Given the description of an element on the screen output the (x, y) to click on. 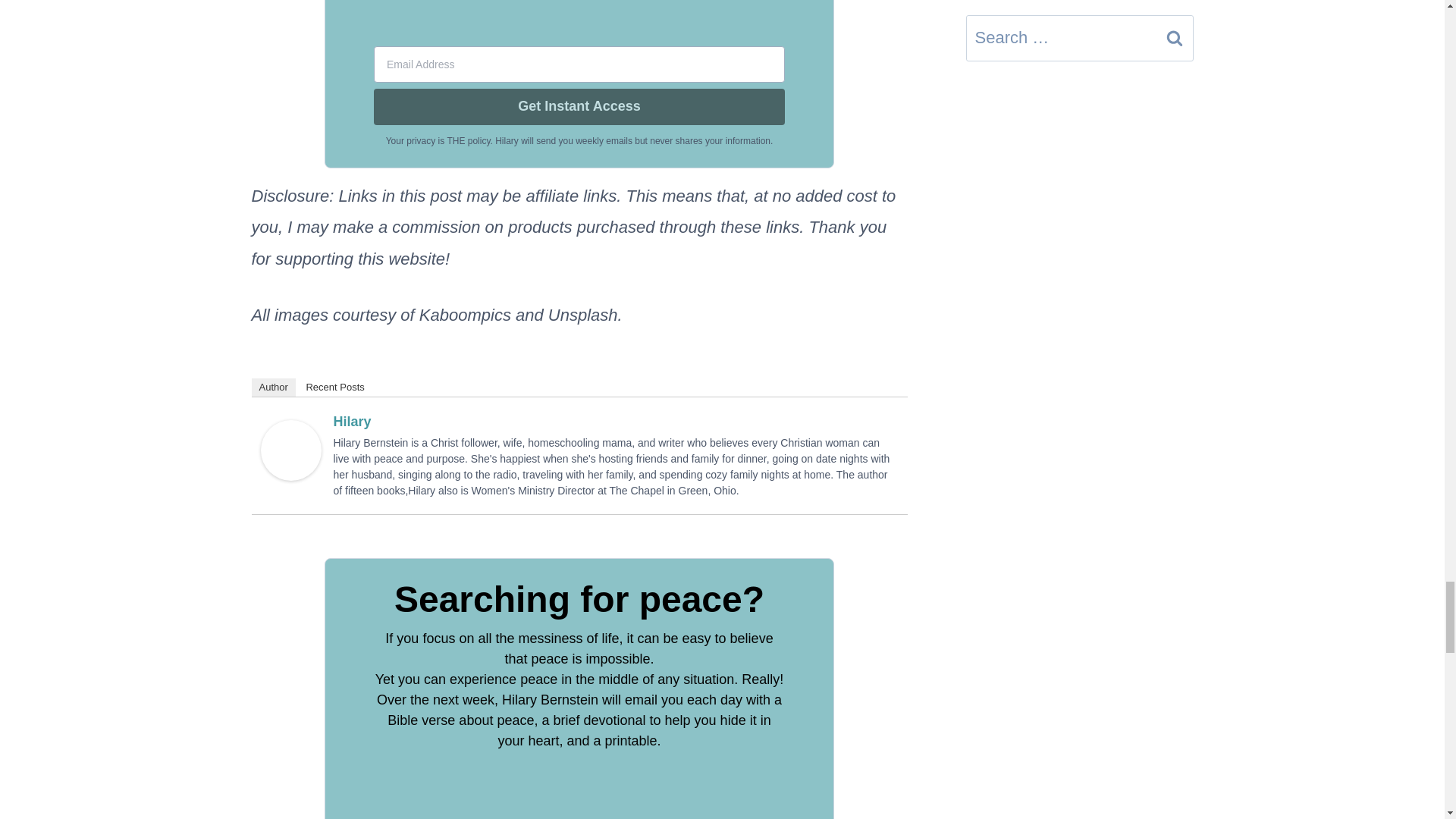
Author (273, 387)
Hilary (352, 421)
Get Instant Access (579, 106)
Hilary (290, 450)
Recent Posts (334, 387)
